Given the description of an element on the screen output the (x, y) to click on. 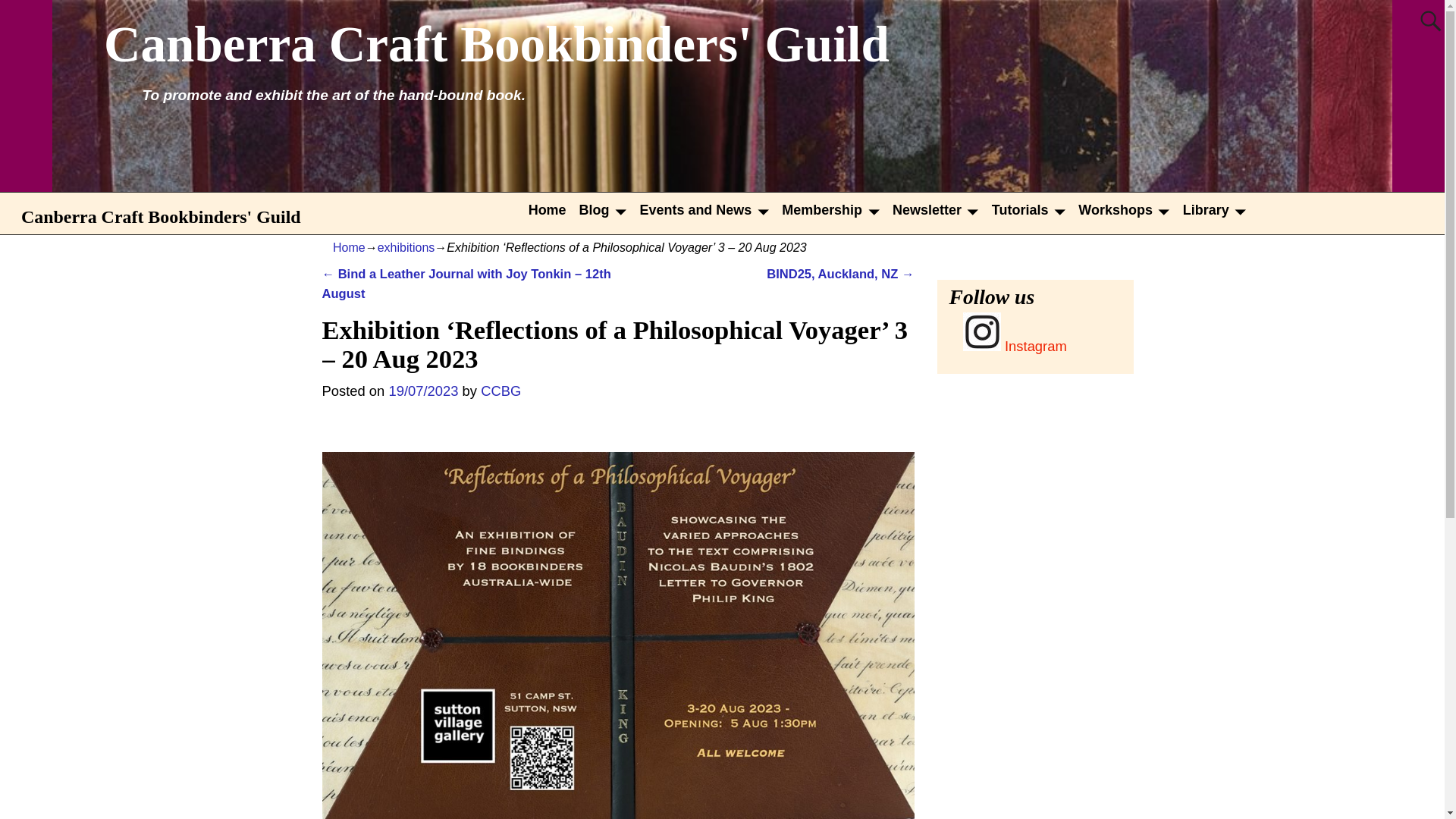
Follow us on instagram! (1014, 345)
Follow us on instagram! (981, 331)
Events and News (707, 209)
Canberra Craft Bookbinders' Guild (496, 43)
View all posts by CCBG (500, 390)
Canberra Craft Bookbinders' Guild (164, 215)
Canberra Craft Bookbinders' Guild (496, 43)
Membership (833, 209)
12:42 pm (423, 390)
Newsletter (938, 209)
Tutorials (1031, 209)
Blog (606, 209)
Home (550, 209)
Home (550, 209)
